Given the description of an element on the screen output the (x, y) to click on. 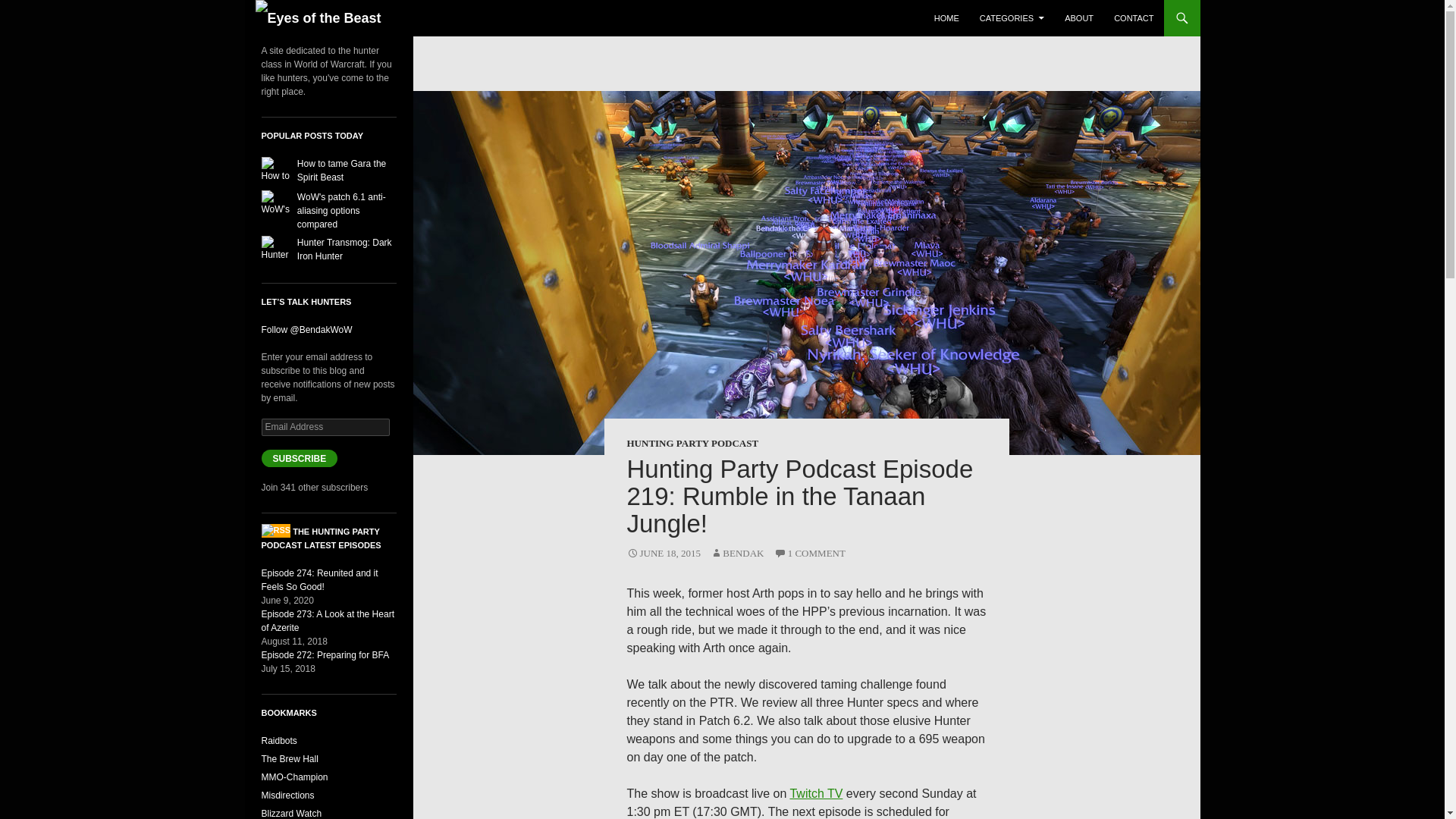
CATEGORIES (1011, 18)
BENDAK (736, 552)
Twitch TV (816, 793)
1 COMMENT (809, 552)
HUNTING PARTY PODCAST (692, 442)
WoW's patch 6.1 anti-aliasing options compared (341, 210)
Syndicate this content (274, 531)
Hunter Transmog: Dark Iron Hunter (344, 249)
ABOUT (1078, 18)
HOME (946, 18)
